Given the description of an element on the screen output the (x, y) to click on. 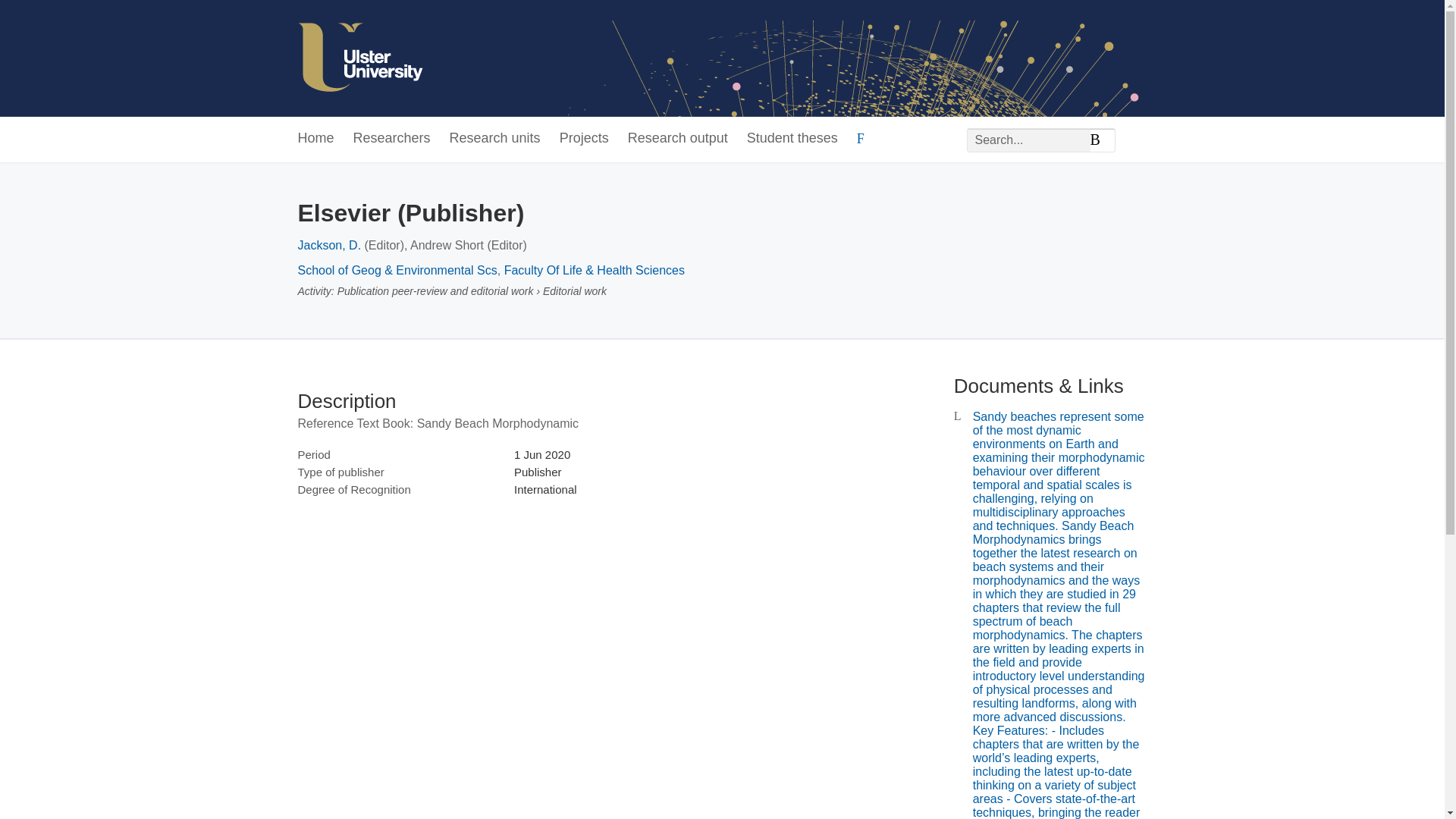
Ulster University Home (359, 58)
Jackson, D. (329, 245)
Researchers (391, 139)
Projects (583, 139)
Student theses (792, 139)
Research output (677, 139)
Research units (494, 139)
